Given the description of an element on the screen output the (x, y) to click on. 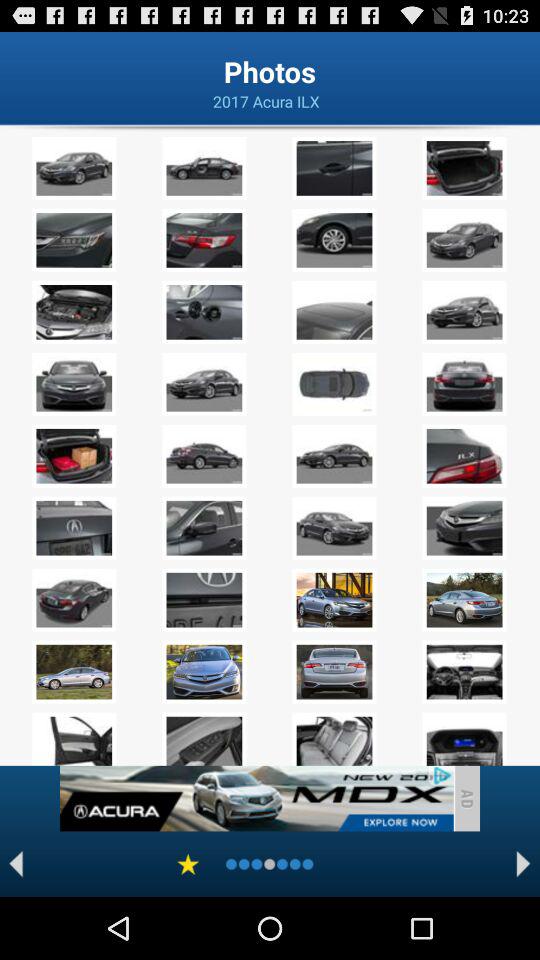
advertisement page (256, 798)
